Given the description of an element on the screen output the (x, y) to click on. 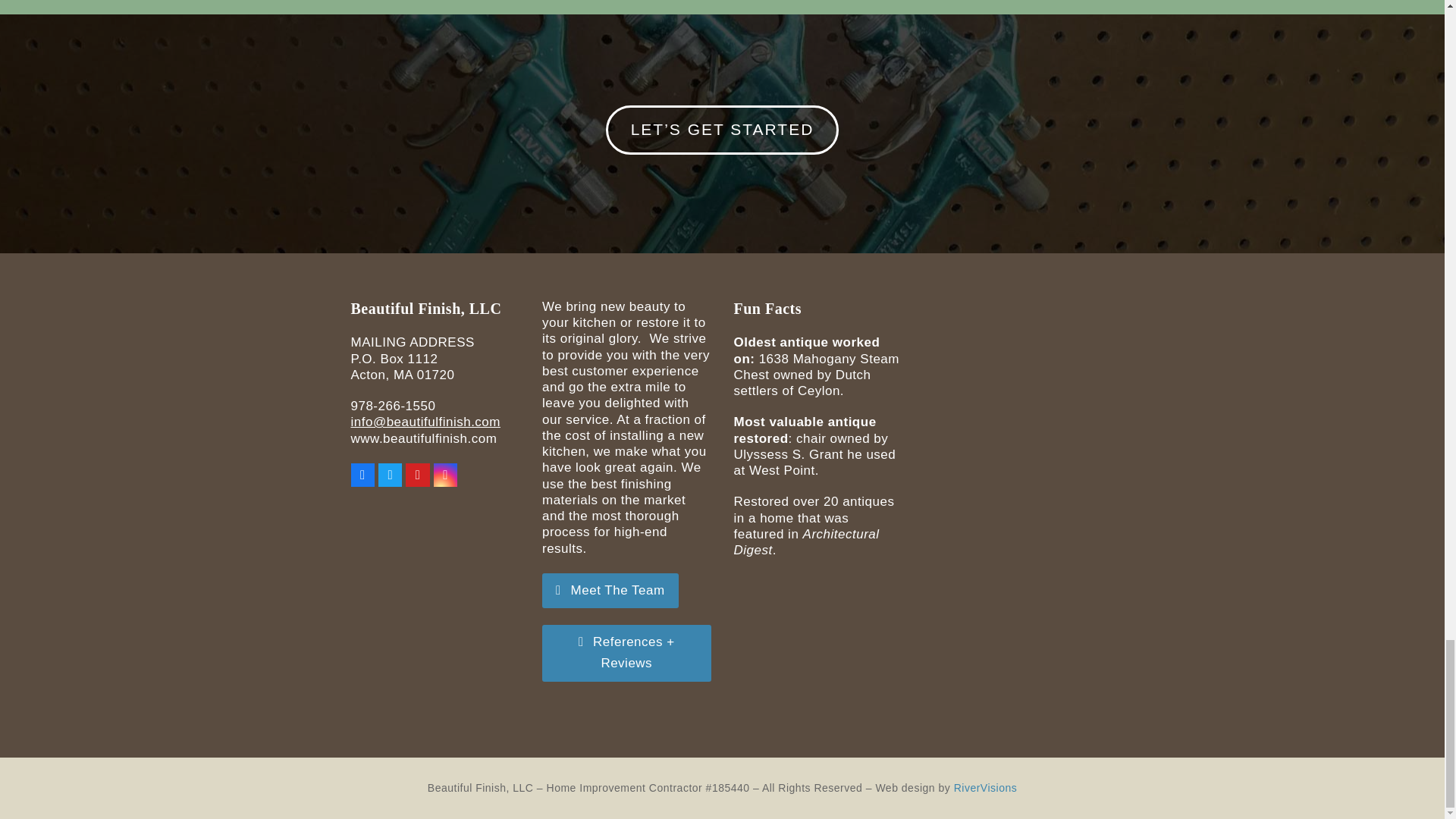
Let's Get Started (722, 129)
Facebook (362, 474)
Instagram (445, 474)
Meet The Team (609, 590)
Twitter (389, 474)
Yelp (417, 474)
